Given the description of an element on the screen output the (x, y) to click on. 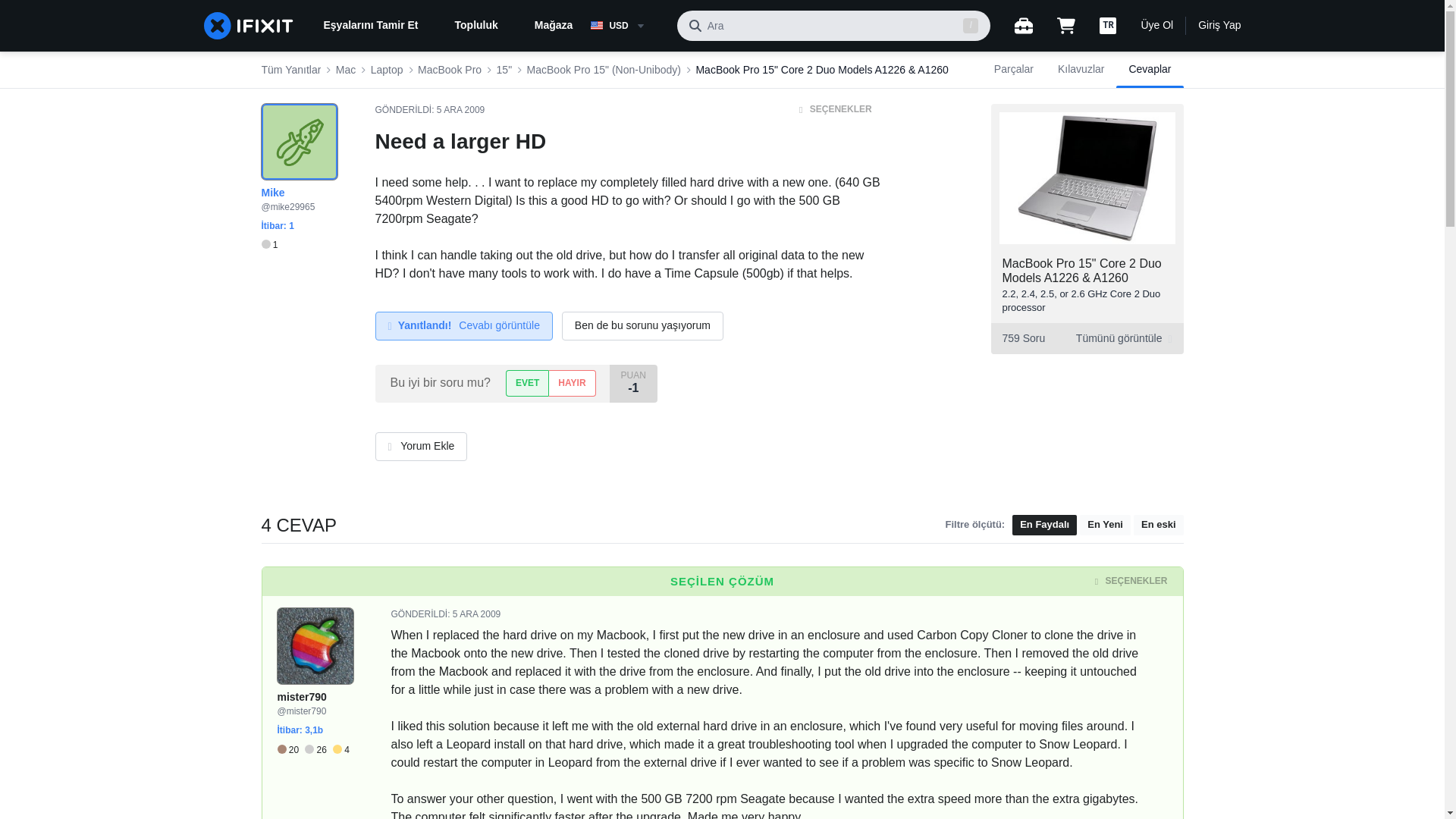
Cevaplar (1149, 69)
15" (504, 69)
Mac (345, 69)
Sat, 05 Dec 2009 19:58:02 -0700 (460, 109)
Laptop (387, 69)
USD (627, 25)
1 (269, 245)
MacBook Pro (449, 69)
20 Bronz rozeti (291, 748)
Sat, 05 Dec 2009 20:14:03 -0700 (476, 614)
